Given the description of an element on the screen output the (x, y) to click on. 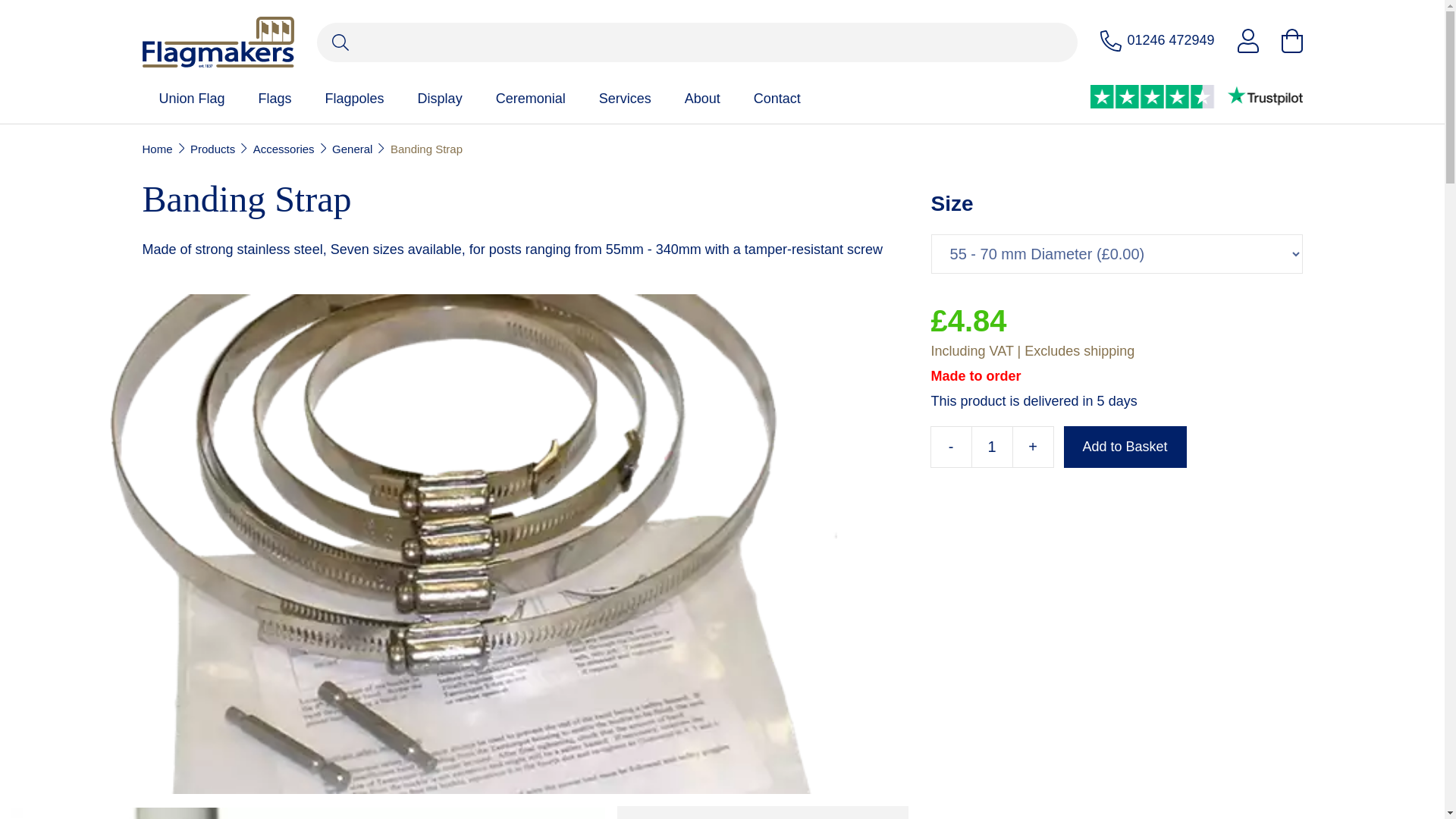
Flags (275, 98)
Services (624, 98)
Flagpoles (354, 98)
Home (157, 148)
1 (992, 446)
Contact (777, 98)
General (351, 148)
Accessories (283, 148)
Add to Basket (1125, 446)
Products (212, 148)
Display (440, 98)
Ceremonial (531, 98)
About (702, 98)
01246 472949 (1157, 40)
Union Flag (191, 98)
